Given the description of an element on the screen output the (x, y) to click on. 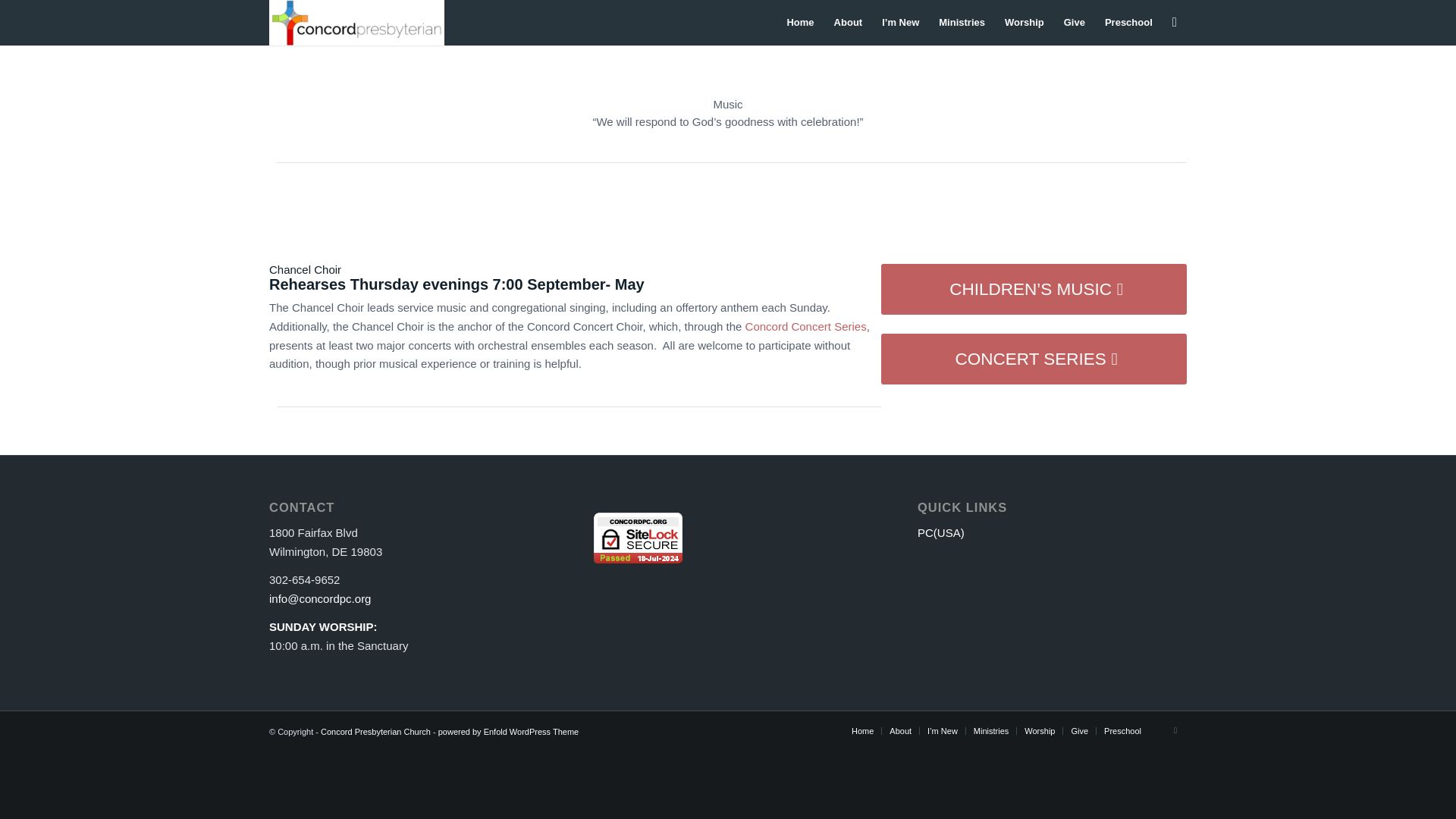
Home (862, 730)
Facebook (1174, 730)
About (848, 22)
CONCERT SERIES (1033, 358)
Give (1074, 22)
Concord Concert Series (805, 326)
Worship (1024, 22)
Ministries (961, 22)
Home (800, 22)
SiteLock (638, 537)
powered by Enfold WordPress Theme (508, 731)
Concord Presbyterian Church (375, 731)
Preschool (1127, 22)
